Given the description of an element on the screen output the (x, y) to click on. 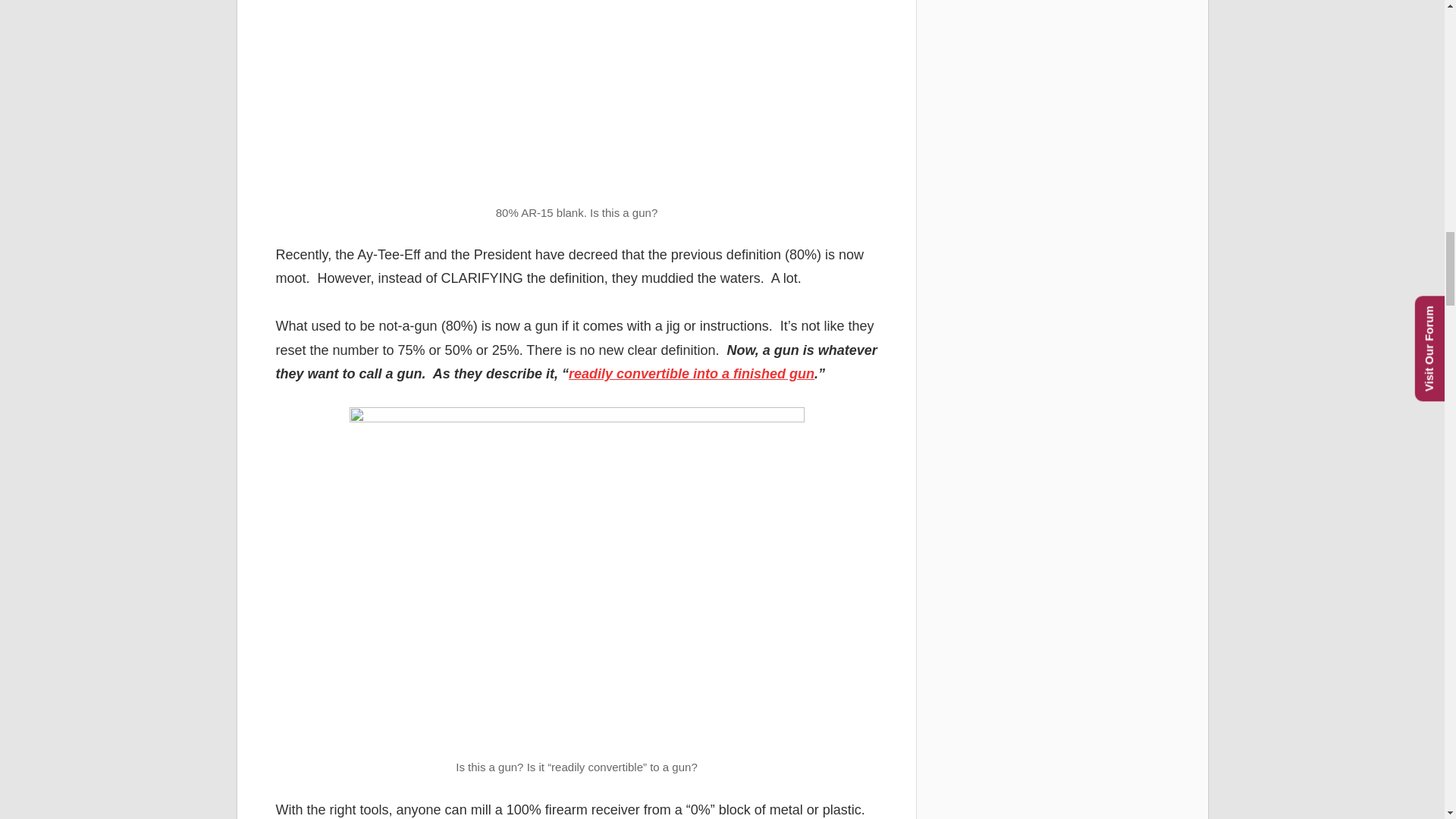
readily convertible into a finished gun (691, 373)
